Given the description of an element on the screen output the (x, y) to click on. 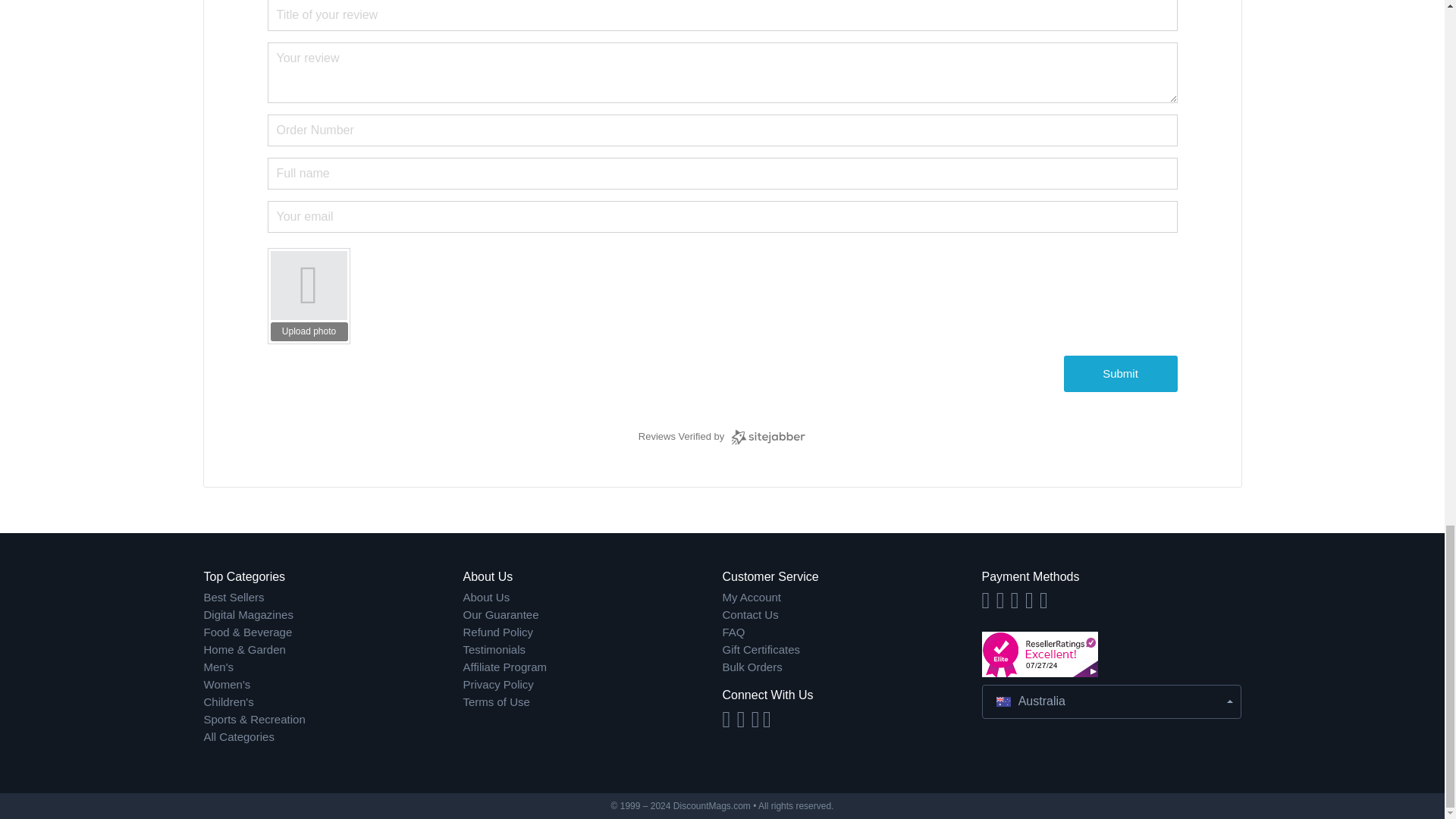
Submit (1119, 373)
